Given the description of an element on the screen output the (x, y) to click on. 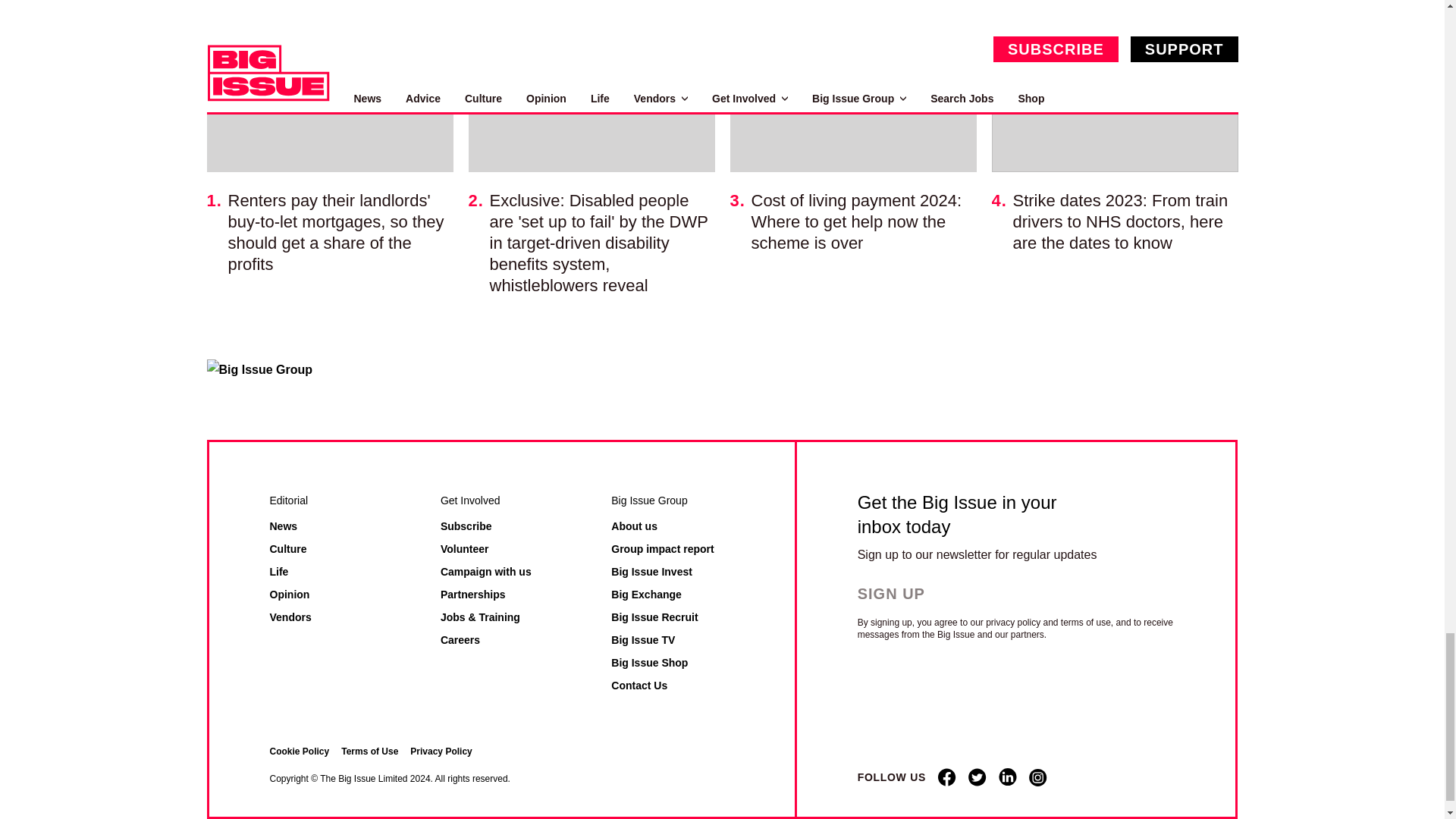
Button (904, 593)
